Given the description of an element on the screen output the (x, y) to click on. 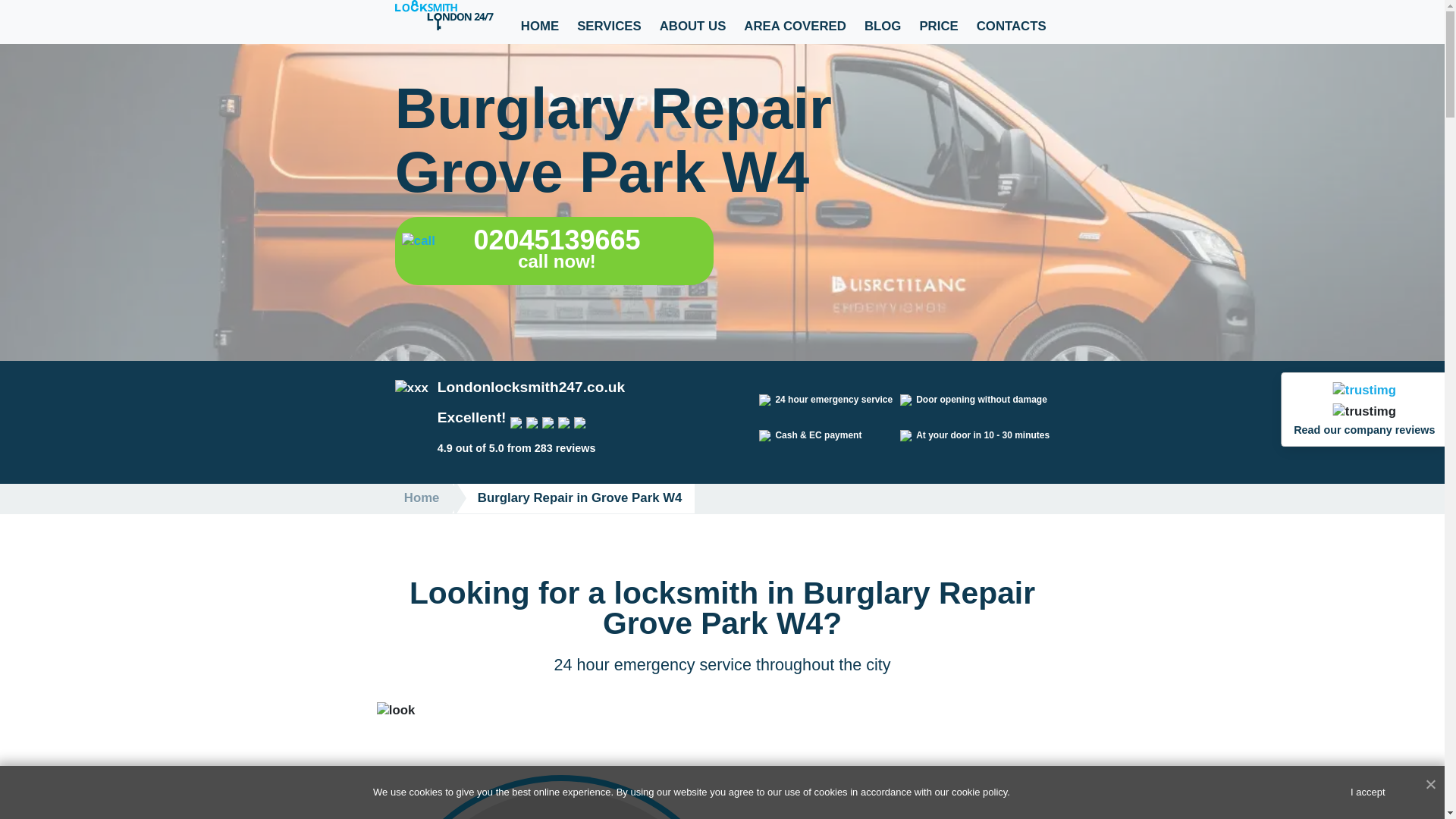
ABOUT US (692, 17)
AREA COVERED (795, 17)
HOME (539, 17)
SERVICES (608, 17)
